Given the description of an element on the screen output the (x, y) to click on. 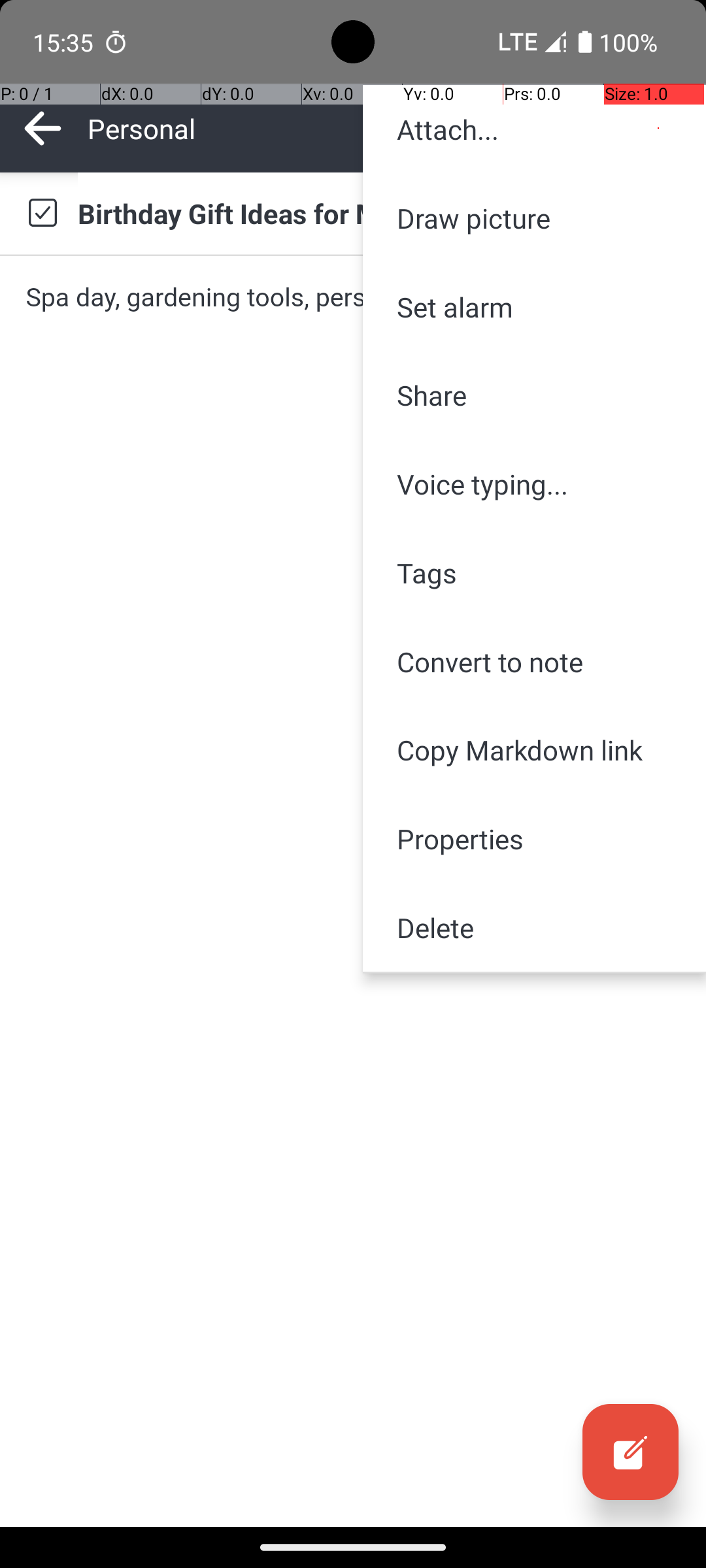
Birthday Gift Ideas for Mom Element type: android.widget.EditText (378, 213)
Attach... Element type: android.widget.TextView (534, 129)
Draw picture Element type: android.widget.TextView (534, 217)
Set alarm Element type: android.widget.TextView (534, 306)
Voice typing... Element type: android.widget.TextView (534, 484)
Tags Element type: android.widget.TextView (534, 572)
Convert to note Element type: android.widget.TextView (534, 661)
Copy Markdown link Element type: android.widget.TextView (534, 749)
Properties Element type: android.widget.TextView (534, 838)
Spa day, gardening tools, personalized photo album Element type: android.widget.TextView (352, 296)
